Given the description of an element on the screen output the (x, y) to click on. 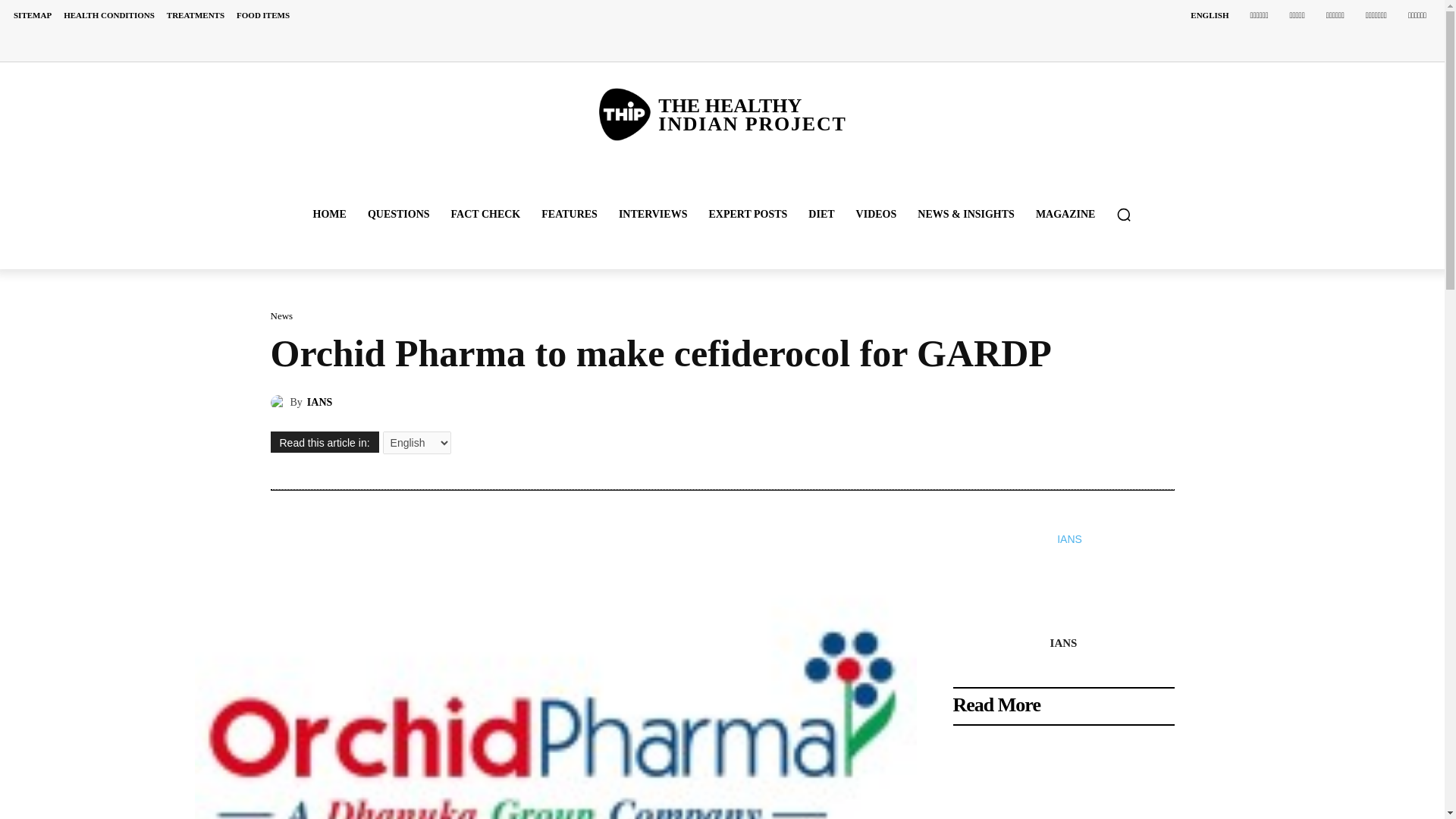
EXPERT POSTS (747, 214)
ENGLISH (1209, 14)
INTERVIEWS (653, 214)
HOME (721, 113)
HEALTH CONDITIONS (329, 214)
DIET (109, 15)
TREATMENTS (820, 214)
VIDEOS (195, 15)
